Given the description of an element on the screen output the (x, y) to click on. 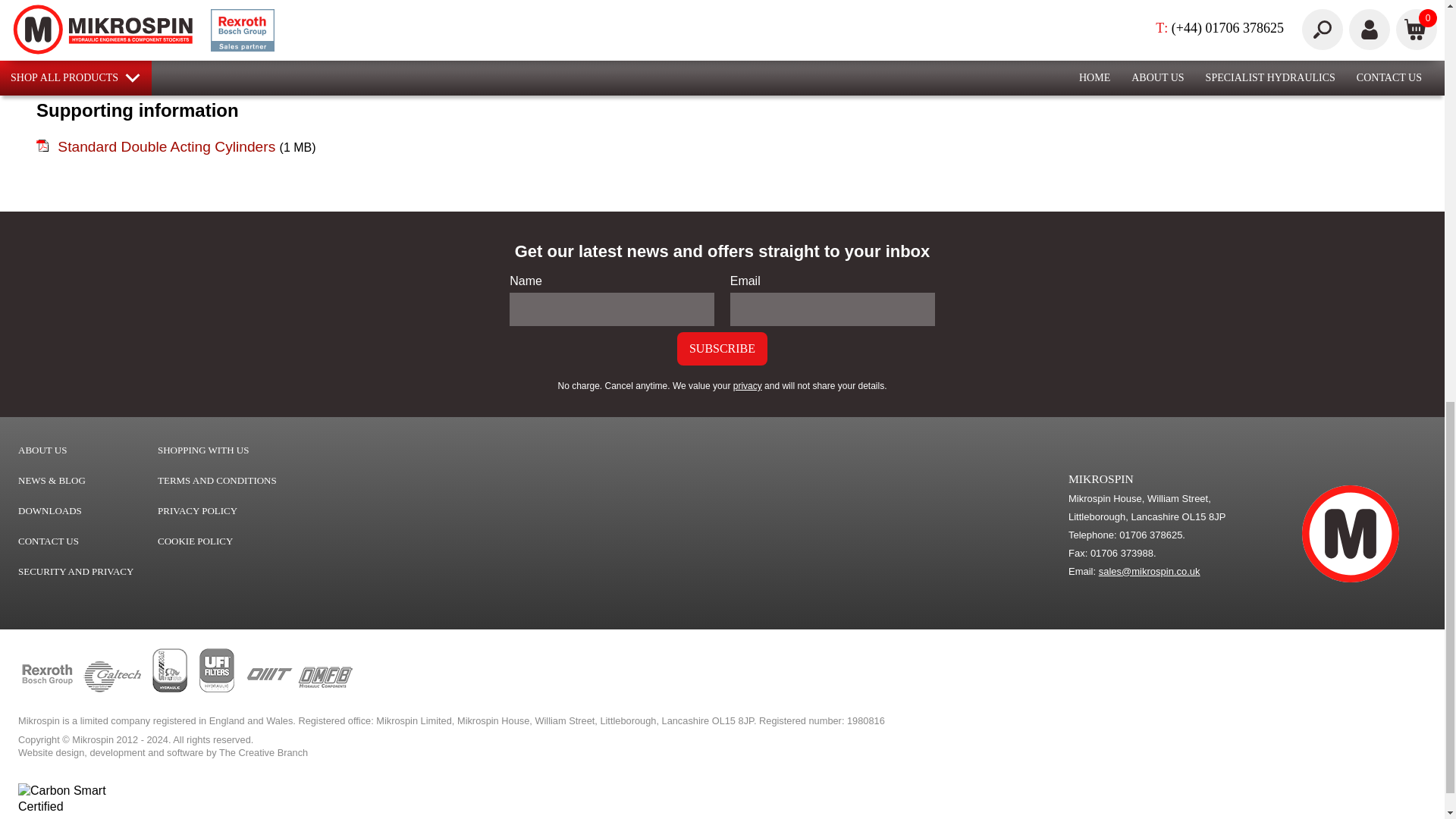
View all OMT products (268, 688)
View all OMFB products (325, 688)
Privacy policy (747, 385)
Subscribe (722, 348)
View all Sofima products (170, 688)
View all Galtech products (112, 688)
View all filters (216, 688)
View all Bosch Rexroth products (47, 688)
